Given the description of an element on the screen output the (x, y) to click on. 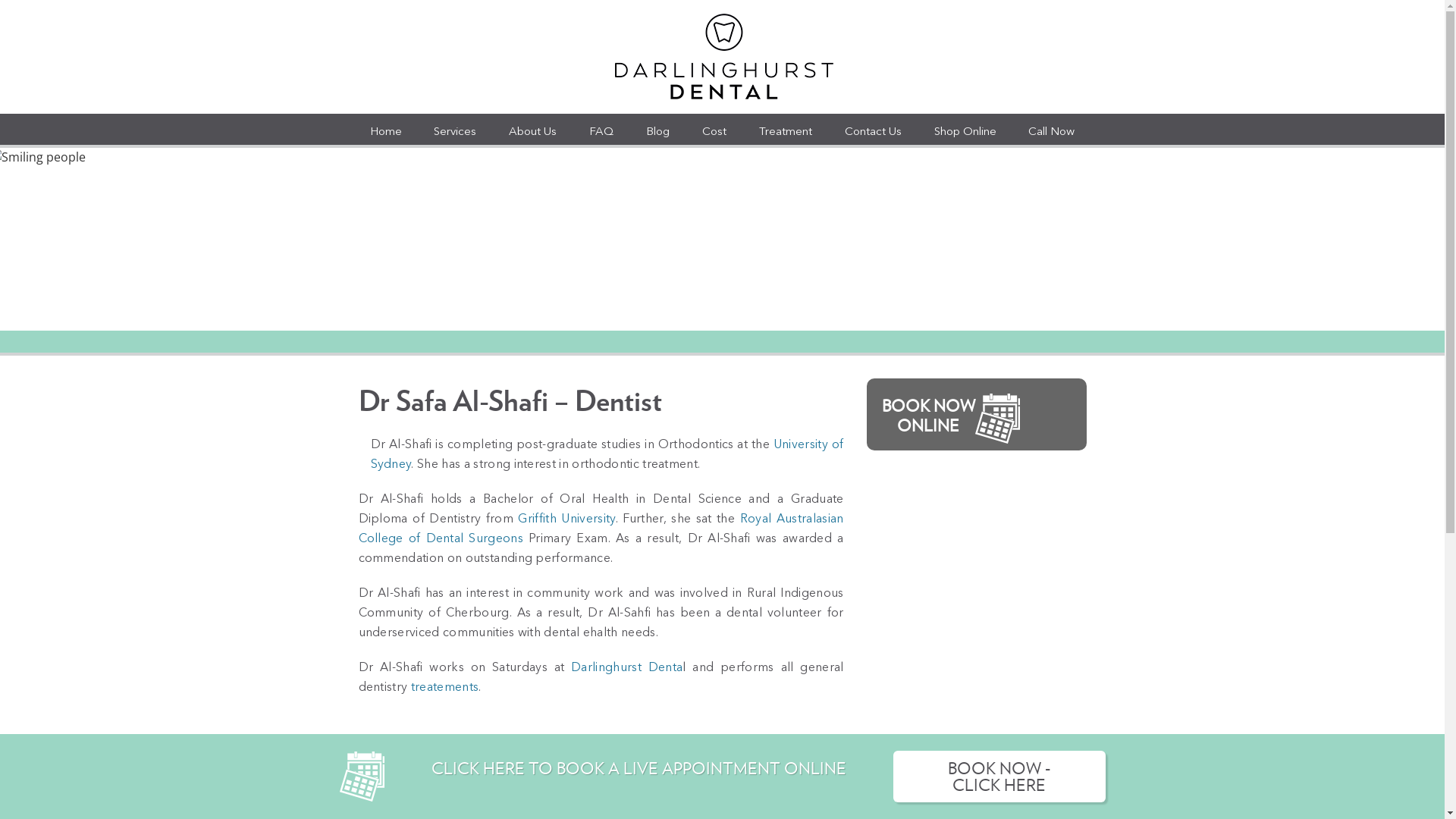
Royal Australasian College of Dental Surgeons Element type: text (600, 529)
Services Element type: text (454, 128)
Home Element type: text (384, 128)
Contact Us Element type: text (873, 128)
FAQ Element type: text (600, 128)
Griffith University Element type: text (566, 519)
Call Now Element type: text (1050, 128)
Shop Online Element type: text (964, 128)
Darlinghurst Denta Element type: text (626, 668)
Blog Element type: text (657, 128)
treatements Element type: text (445, 687)
University of Sydney Element type: text (606, 454)
Treatment Element type: text (785, 128)
About Us Element type: text (532, 128)
Darlinghurst Dental Element type: text (721, 56)
Cost Element type: text (713, 128)
BOOK NOW
ONLINE Element type: text (975, 414)
